Given the description of an element on the screen output the (x, y) to click on. 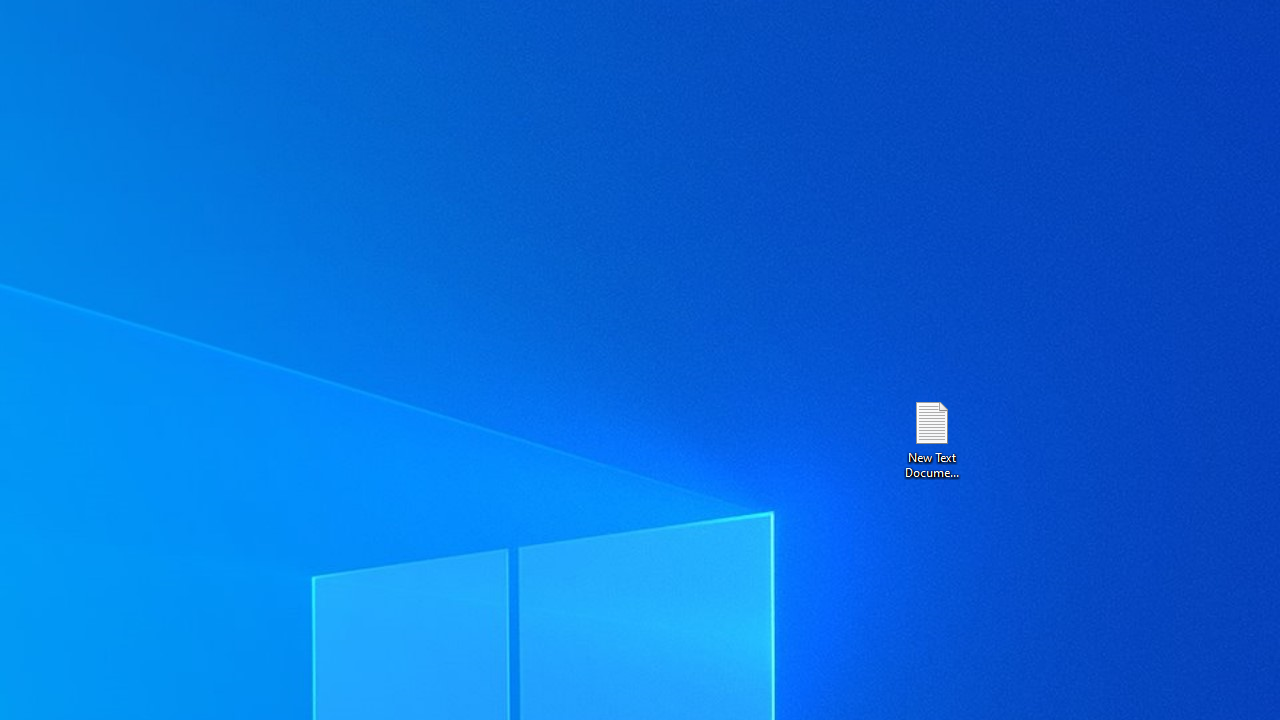
New Text Document (2) (931, 438)
